Given the description of an element on the screen output the (x, y) to click on. 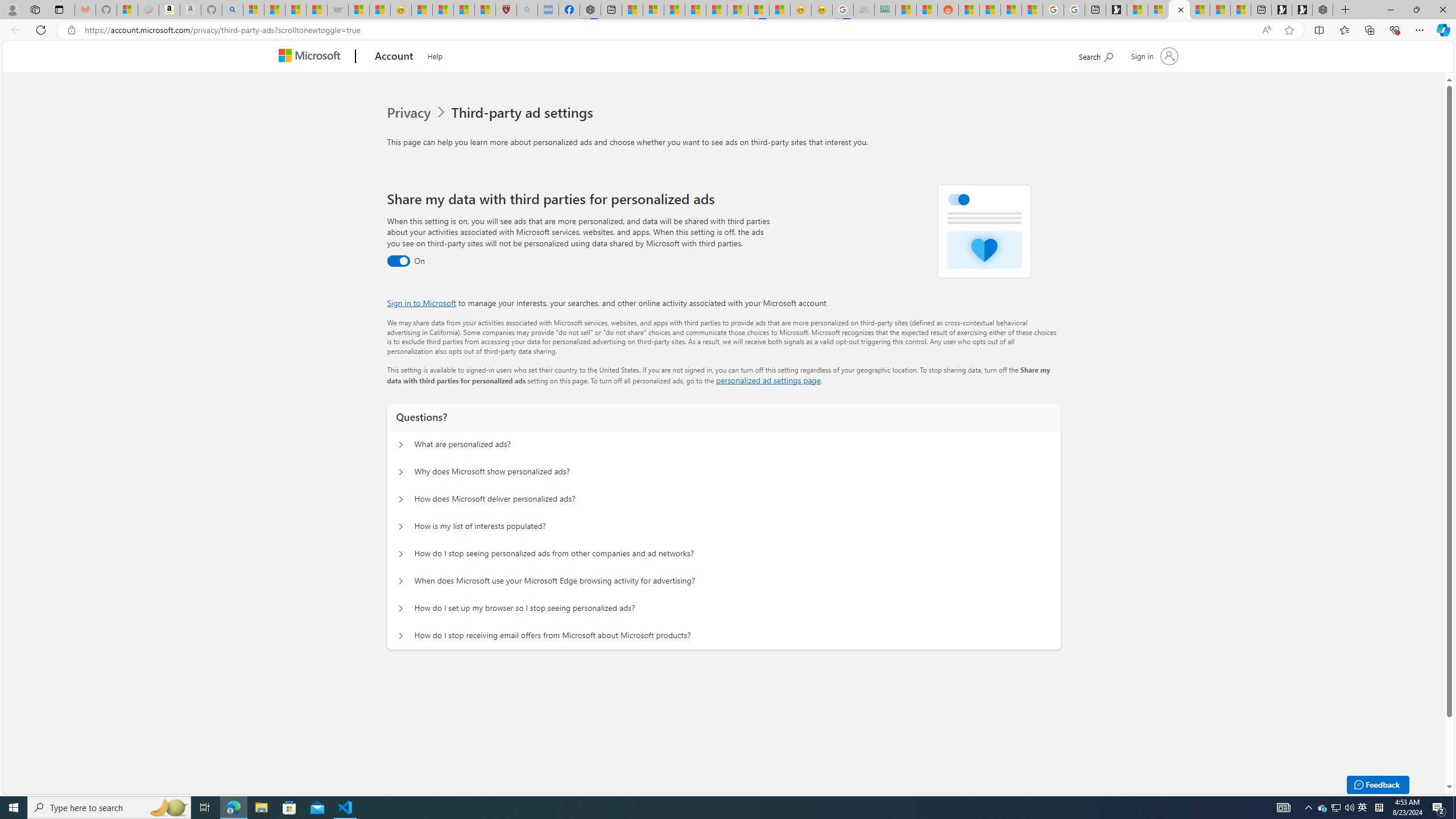
Account (394, 56)
Search Microsoft.com (1095, 54)
Questions? How does Microsoft deliver personalized ads? (401, 499)
